Given the description of an element on the screen output the (x, y) to click on. 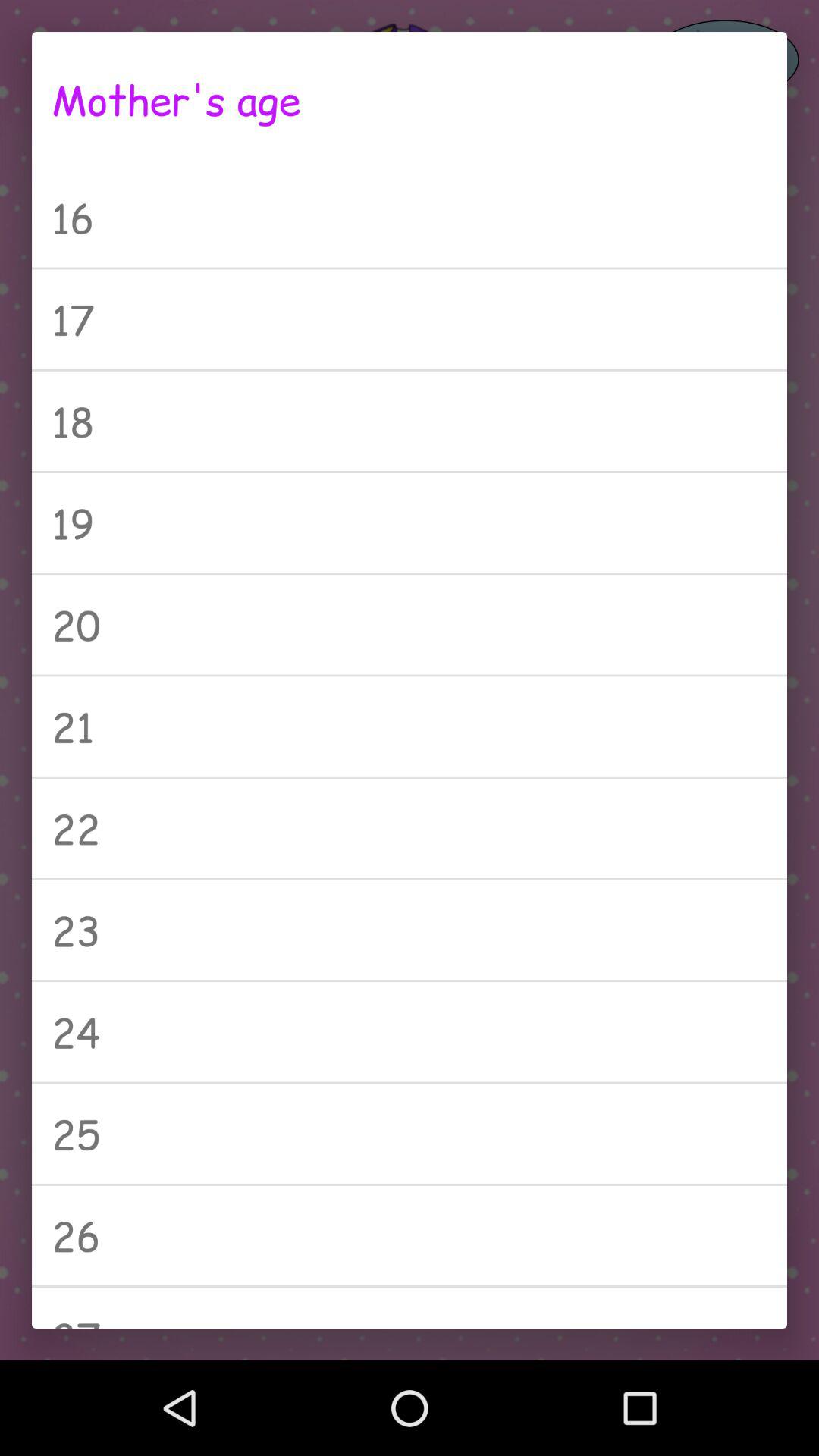
turn on the 27 item (409, 1307)
